Given the description of an element on the screen output the (x, y) to click on. 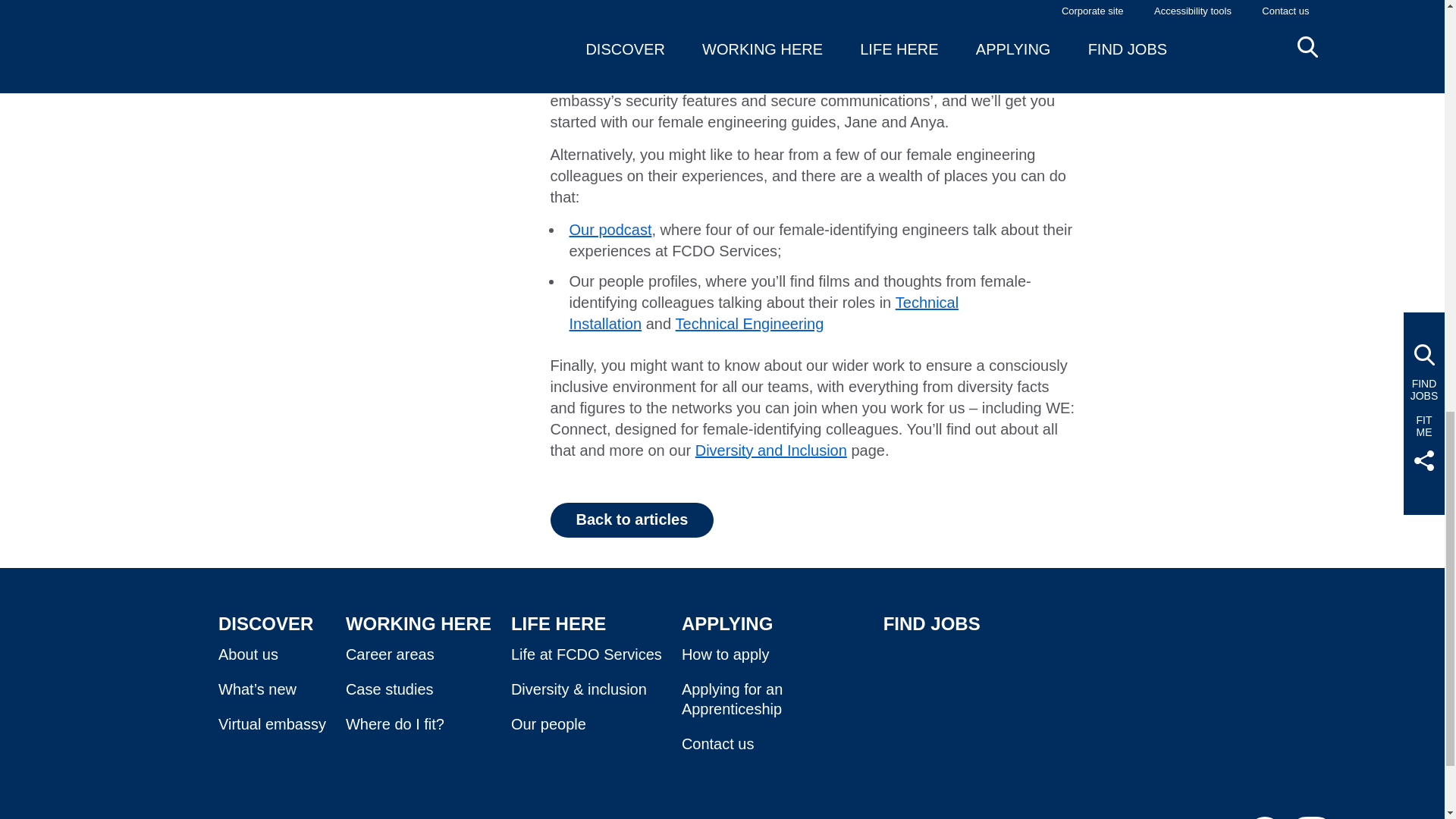
Back to articles (632, 519)
